Given the description of an element on the screen output the (x, y) to click on. 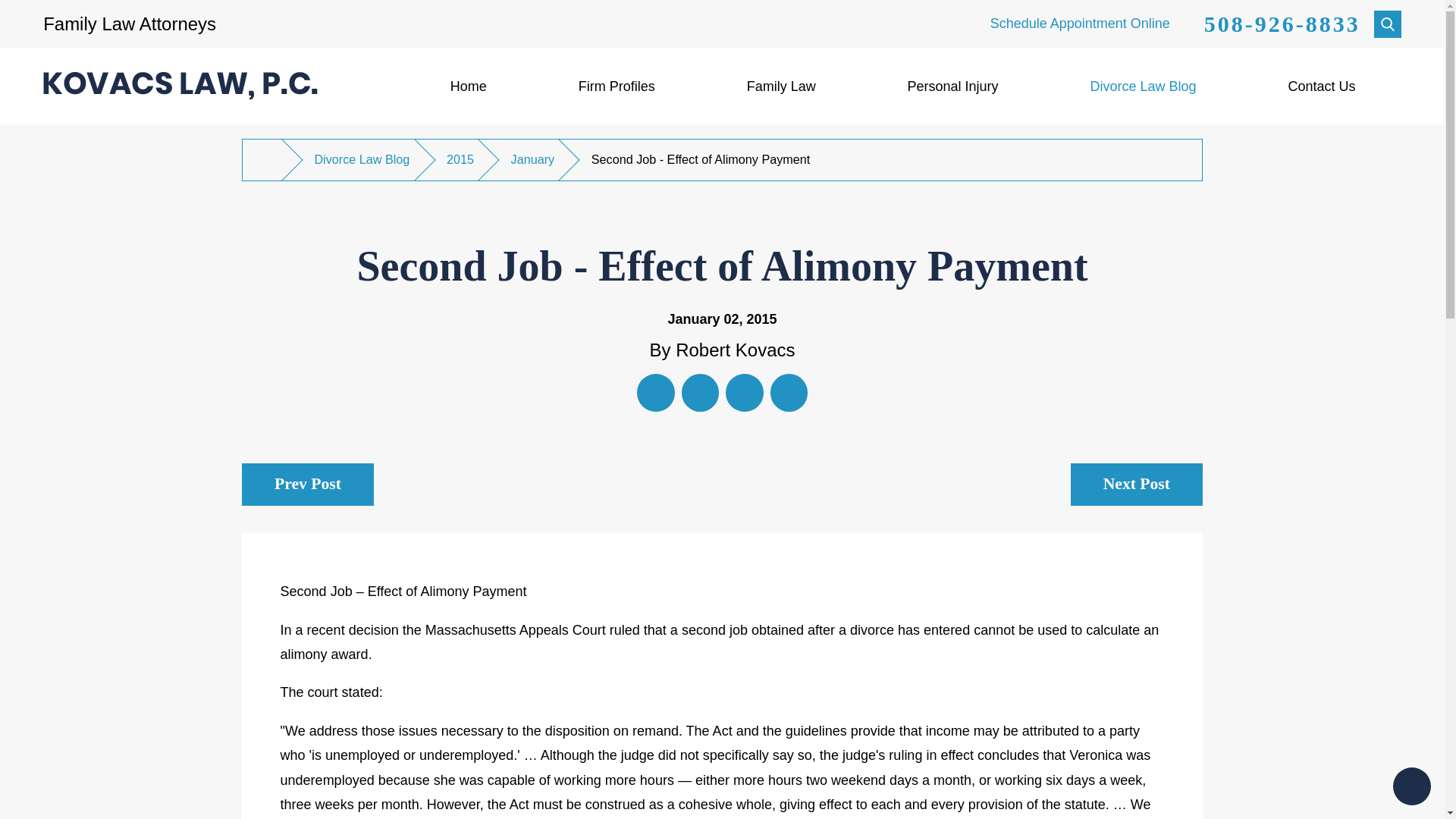
Search Icon (1387, 23)
Kovacs Law, P.C. (180, 85)
Family Law (780, 86)
508-926-8833 (1281, 23)
Personal Injury (952, 86)
Firm Profiles (616, 86)
Go Home (269, 159)
Search Our Site (1387, 23)
Schedule Appointment Online (1080, 23)
Open the accessibility options menu (1412, 786)
